Given the description of an element on the screen output the (x, y) to click on. 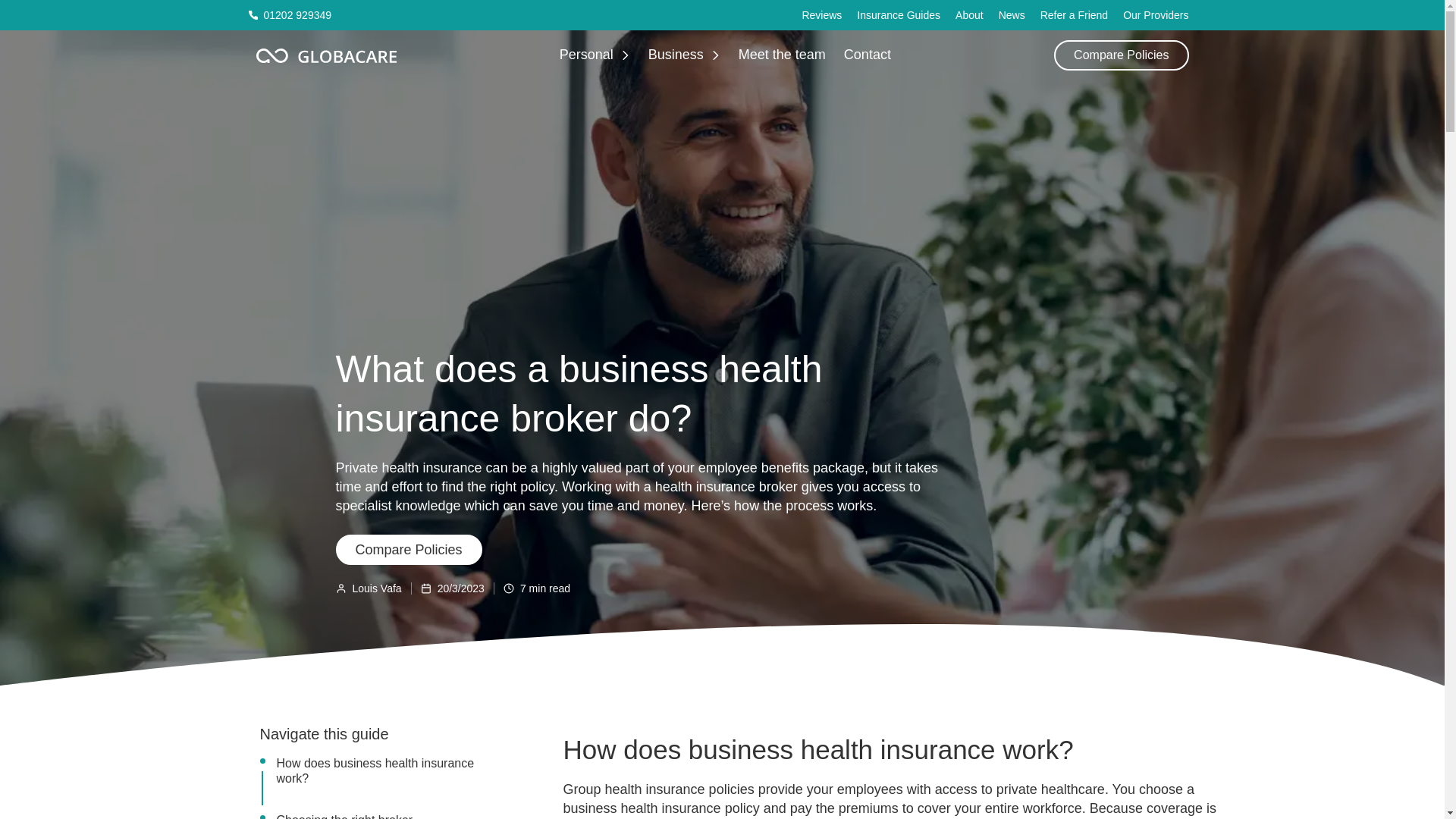
Our Providers (1155, 15)
Insurance Guides (898, 15)
Business (675, 54)
01202 929349 (289, 14)
News (1011, 15)
Personal (585, 54)
Contact (866, 54)
Meet the team (781, 54)
Reviews (821, 15)
Choosing the right broker (344, 816)
Compare Policies (1121, 54)
Louis Vafa (377, 588)
Refer a Friend (1074, 15)
About (969, 15)
Compare Policies (407, 549)
